Given the description of an element on the screen output the (x, y) to click on. 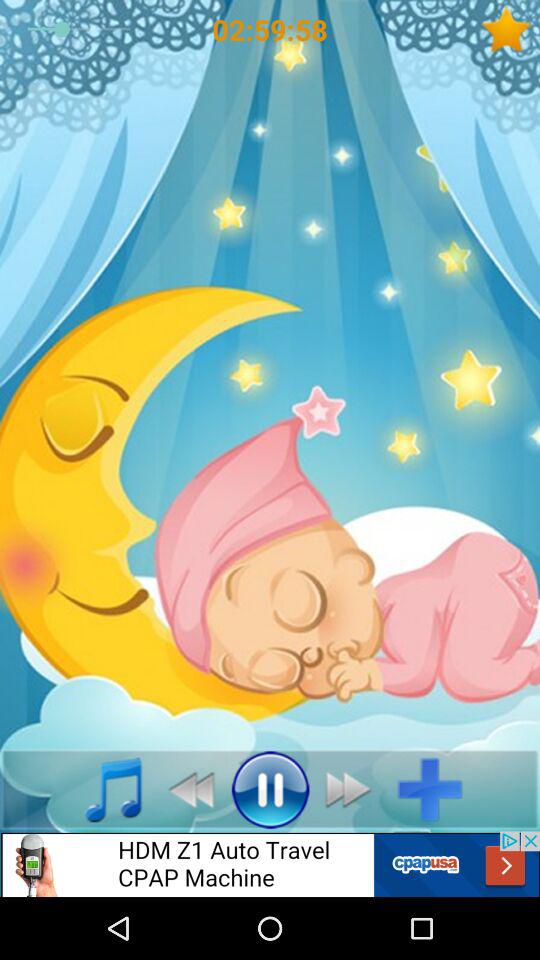
favorites (510, 29)
